Given the description of an element on the screen output the (x, y) to click on. 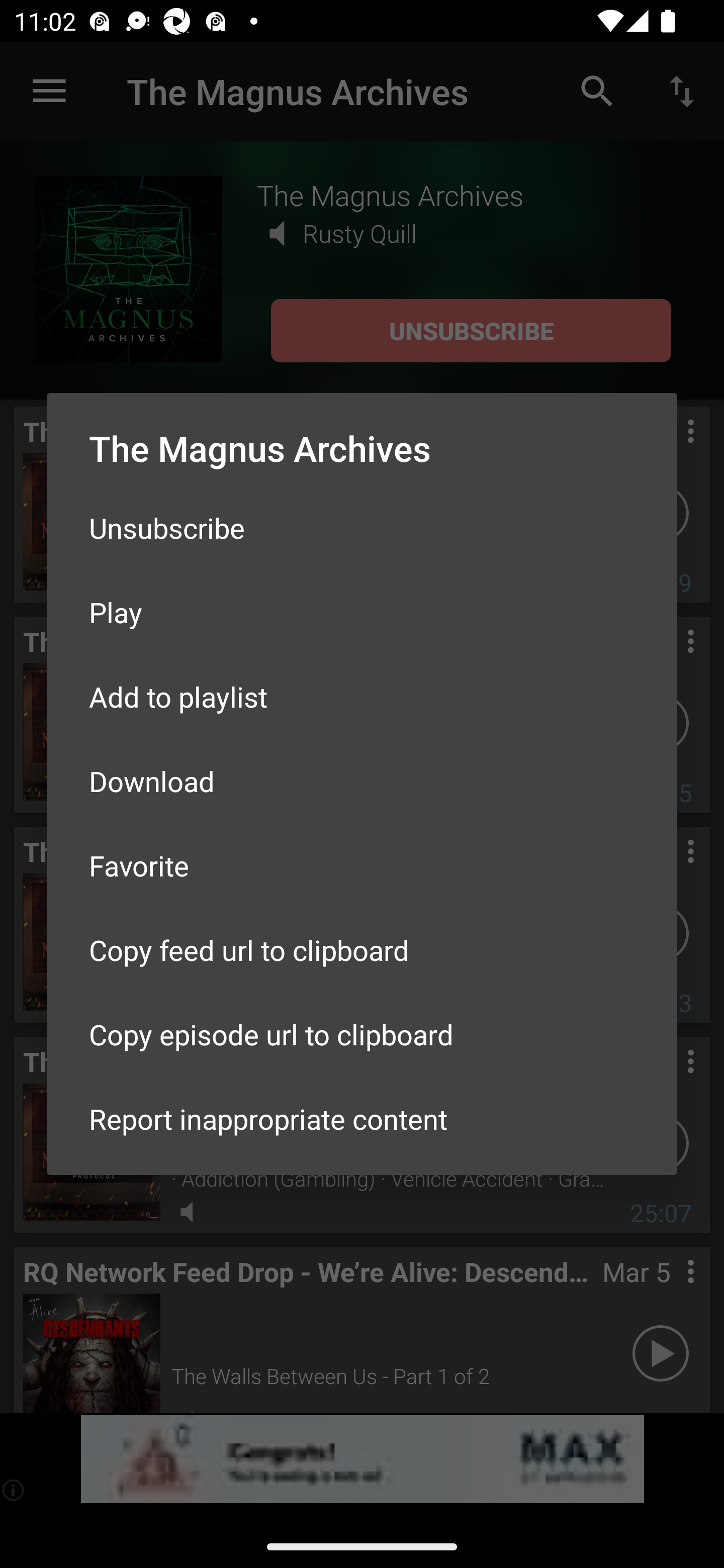
Unsubscribe (361, 527)
Play (361, 611)
Add to playlist (361, 695)
Download (361, 780)
Favorite (361, 865)
Copy feed url to clipboard (361, 949)
Copy episode url to clipboard (361, 1034)
Report inappropriate content (361, 1118)
